Given the description of an element on the screen output the (x, y) to click on. 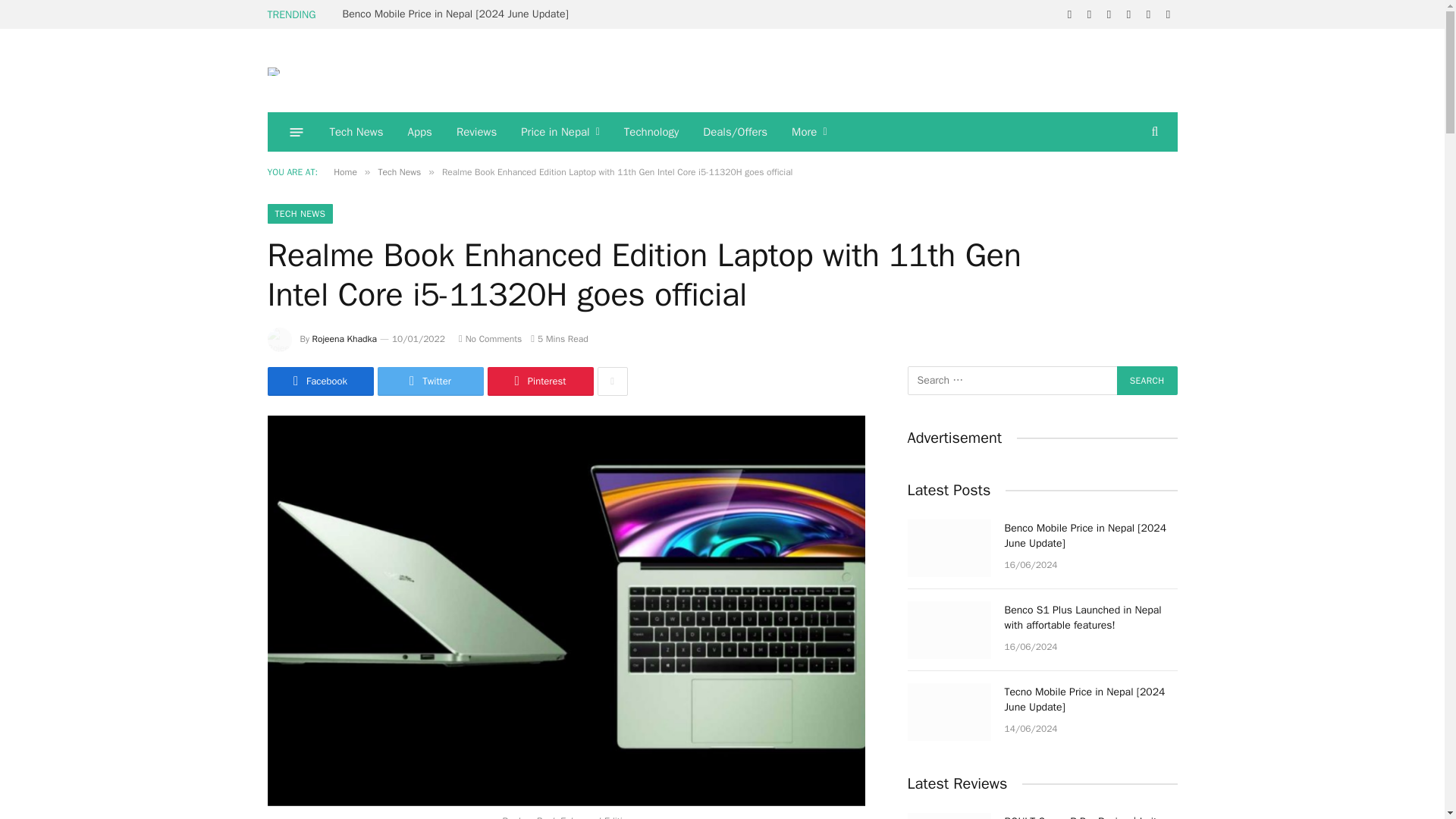
Posts by Rojeena Khadka (345, 338)
Search (1146, 380)
Share on Facebook (319, 380)
Tech News (355, 131)
Search (1146, 380)
Reviews (476, 131)
Show More Social Sharing (611, 380)
Share on Pinterest (539, 380)
Apps (420, 131)
